Given the description of an element on the screen output the (x, y) to click on. 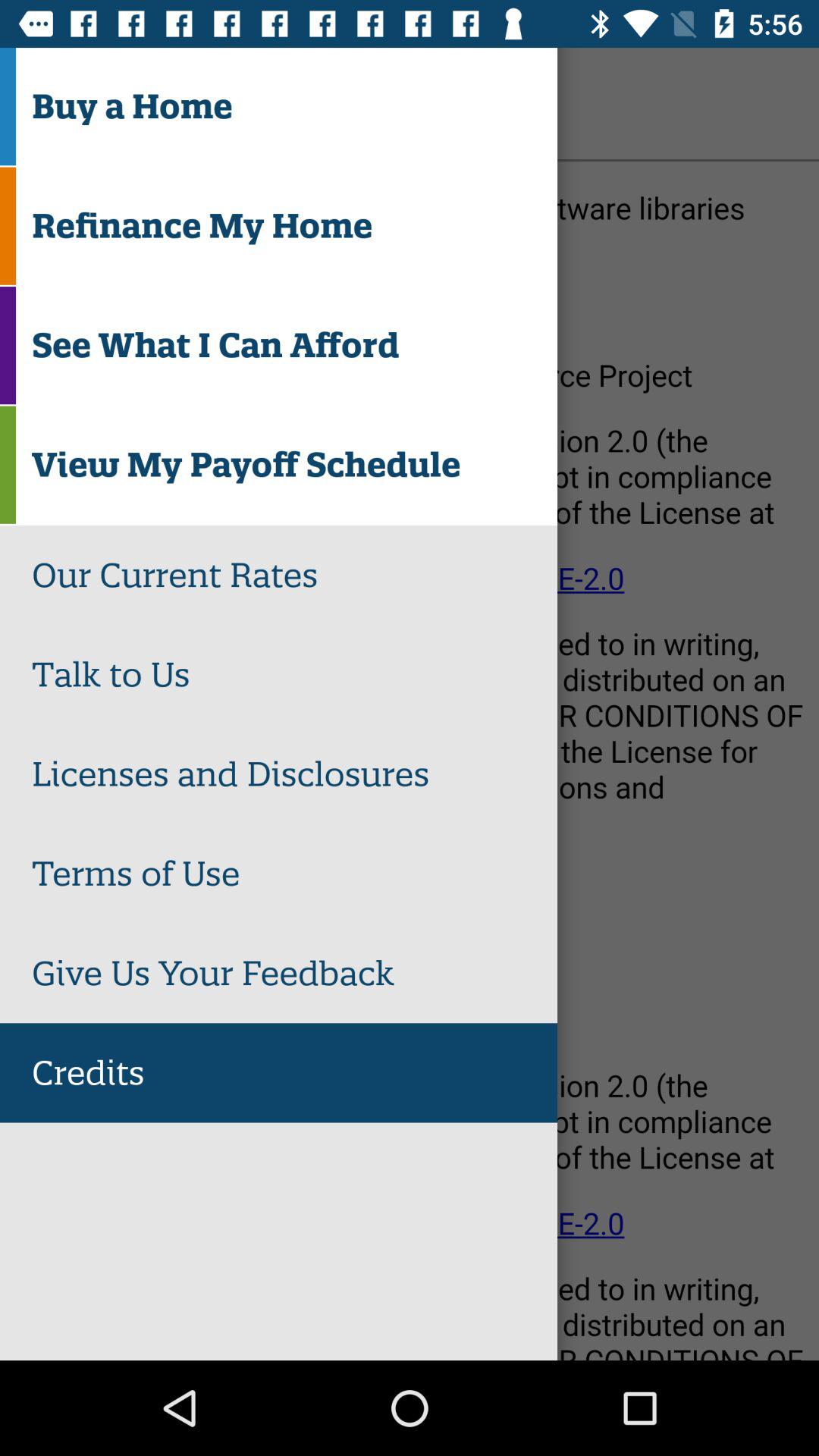
tap item above the credits (294, 973)
